Given the description of an element on the screen output the (x, y) to click on. 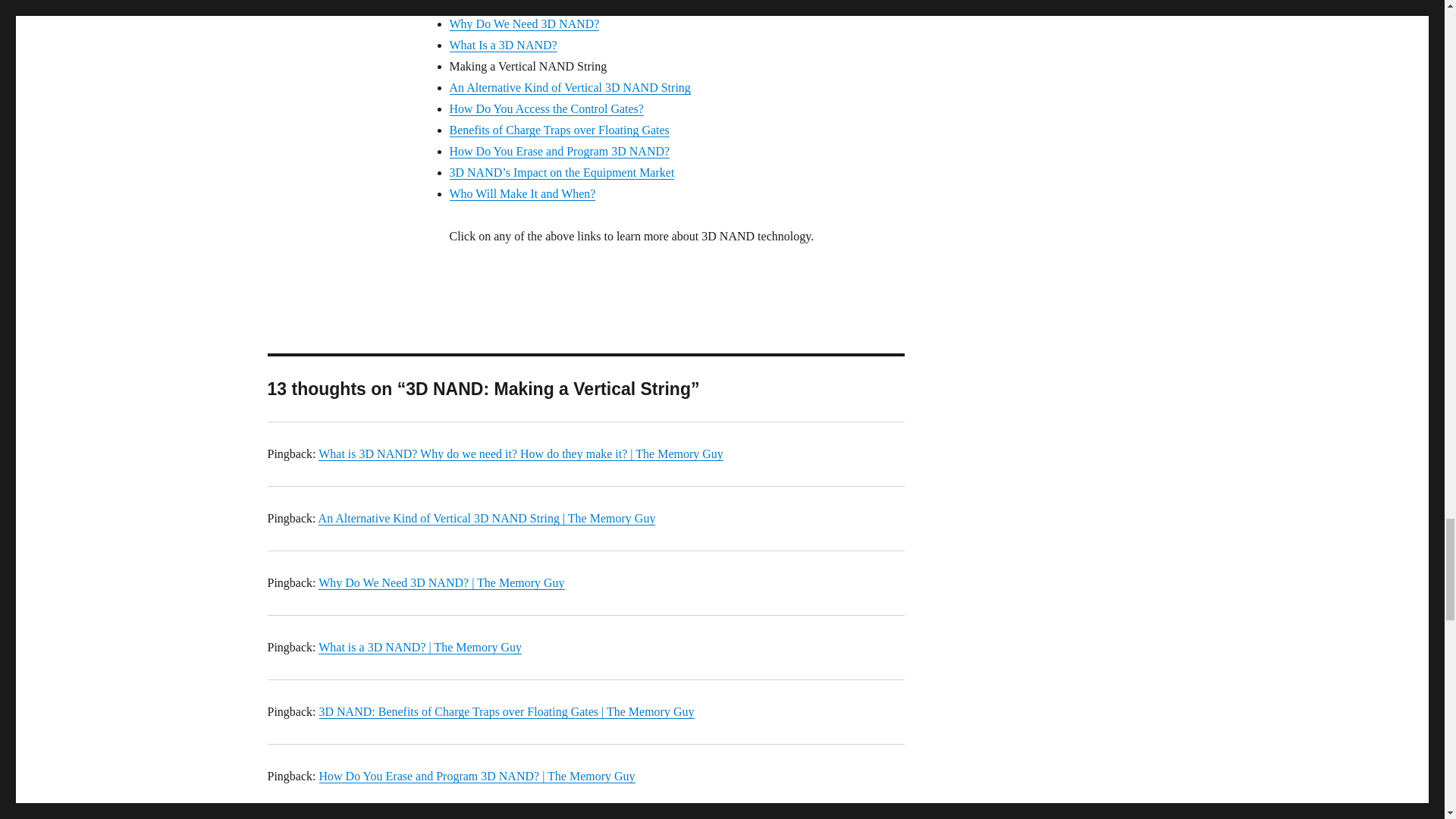
The Memory Guy: Why Do We Need 3D NAND? (523, 23)
The Memory Guy Blog: What is a 3D NAND? (502, 44)
Who Will Make It and When? (521, 193)
Why Do We Need 3D NAND? (523, 23)
What Is a 3D NAND? (502, 44)
How Do You Erase and Program 3D NAND? (558, 151)
How Do You Access the Control Gates? (545, 108)
An Alternative Kind of Vertical 3D NAND String (569, 87)
Benefits of Charge Traps over Floating Gates (558, 129)
